Given the description of an element on the screen output the (x, y) to click on. 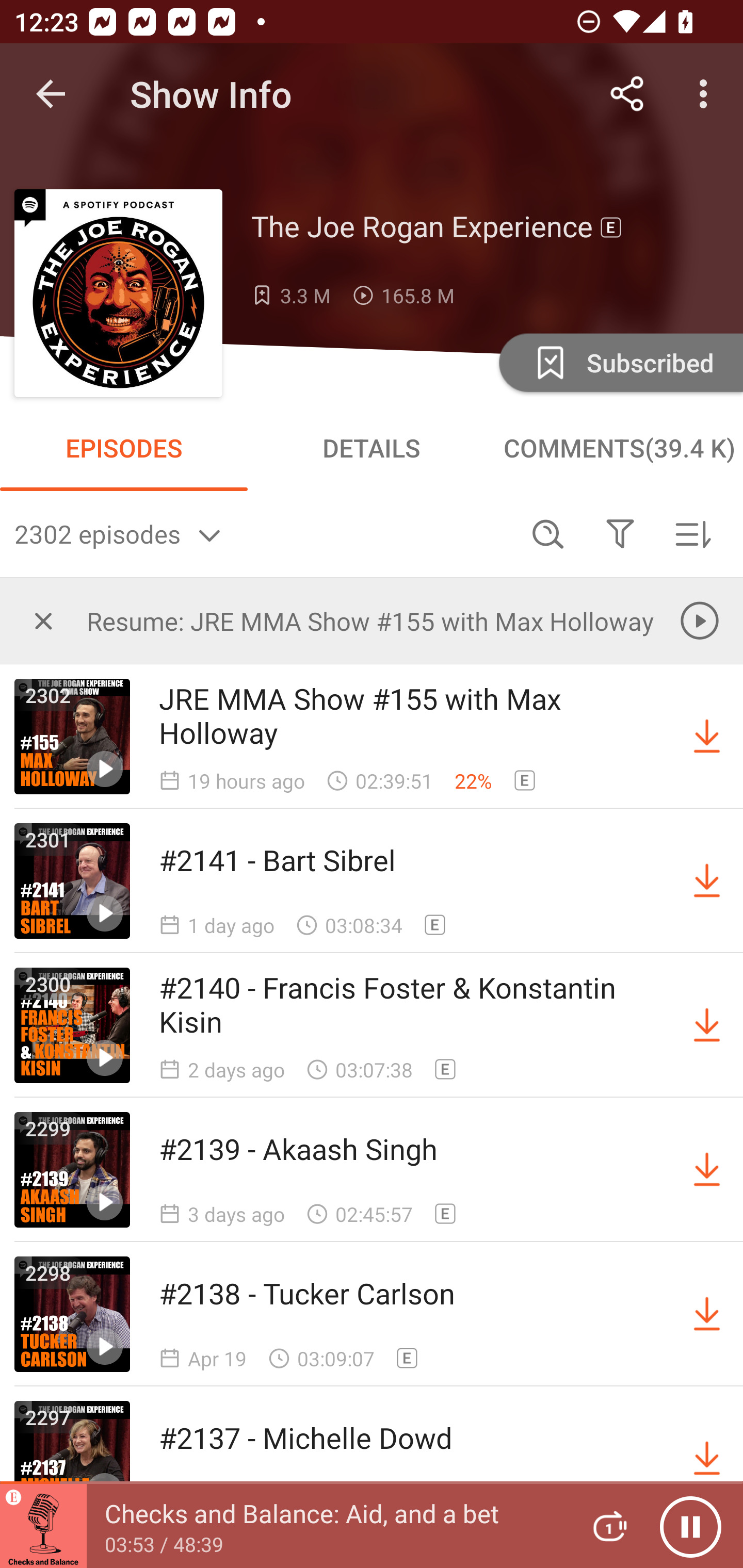
Navigate up (50, 93)
Share (626, 93)
More options (706, 93)
Unsubscribe Subscribed (619, 361)
EPISODES (123, 447)
DETAILS (371, 447)
COMMENTS(39.4 K) (619, 447)
2302 episodes  (262, 533)
 Search (547, 533)
 (619, 533)
 Sorted by newest first (692, 533)
 (43, 620)
Download (706, 736)
Download (706, 881)
Download (706, 1025)
Download (706, 1169)
Download (706, 1313)
Download (706, 1458)
Checks and Balance: Aid, and a bet 03:53 / 48:39 (283, 1525)
Pause (690, 1526)
